Given the description of an element on the screen output the (x, y) to click on. 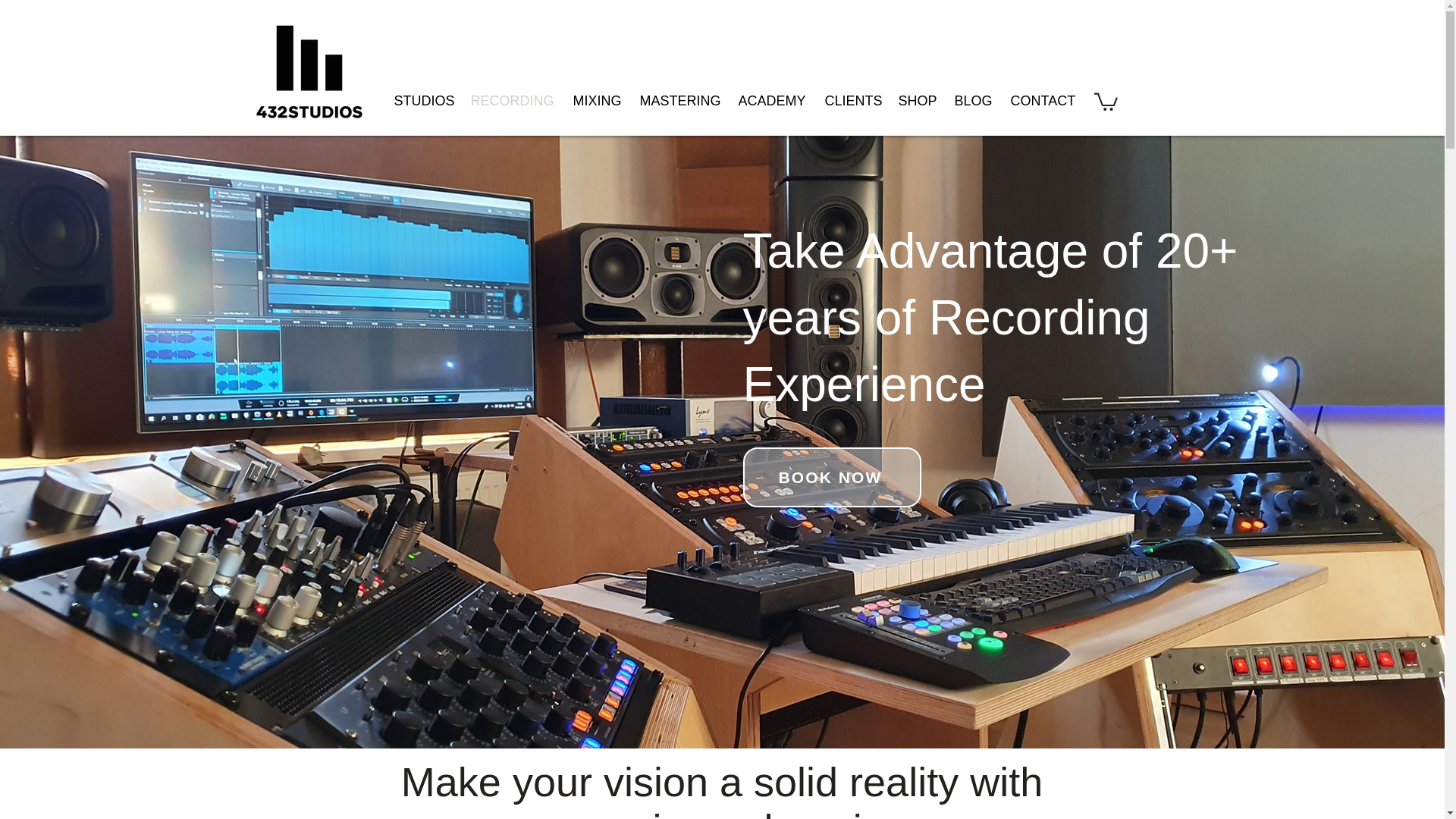
RECORDING (513, 101)
CLIENTS (853, 101)
BLOG (974, 101)
BOOK NOW (831, 476)
MIXING (598, 101)
STUDIOS (425, 101)
MASTERING (680, 101)
CONTACT (1043, 101)
SHOP (917, 101)
ACADEMY (773, 101)
